Given the description of an element on the screen output the (x, y) to click on. 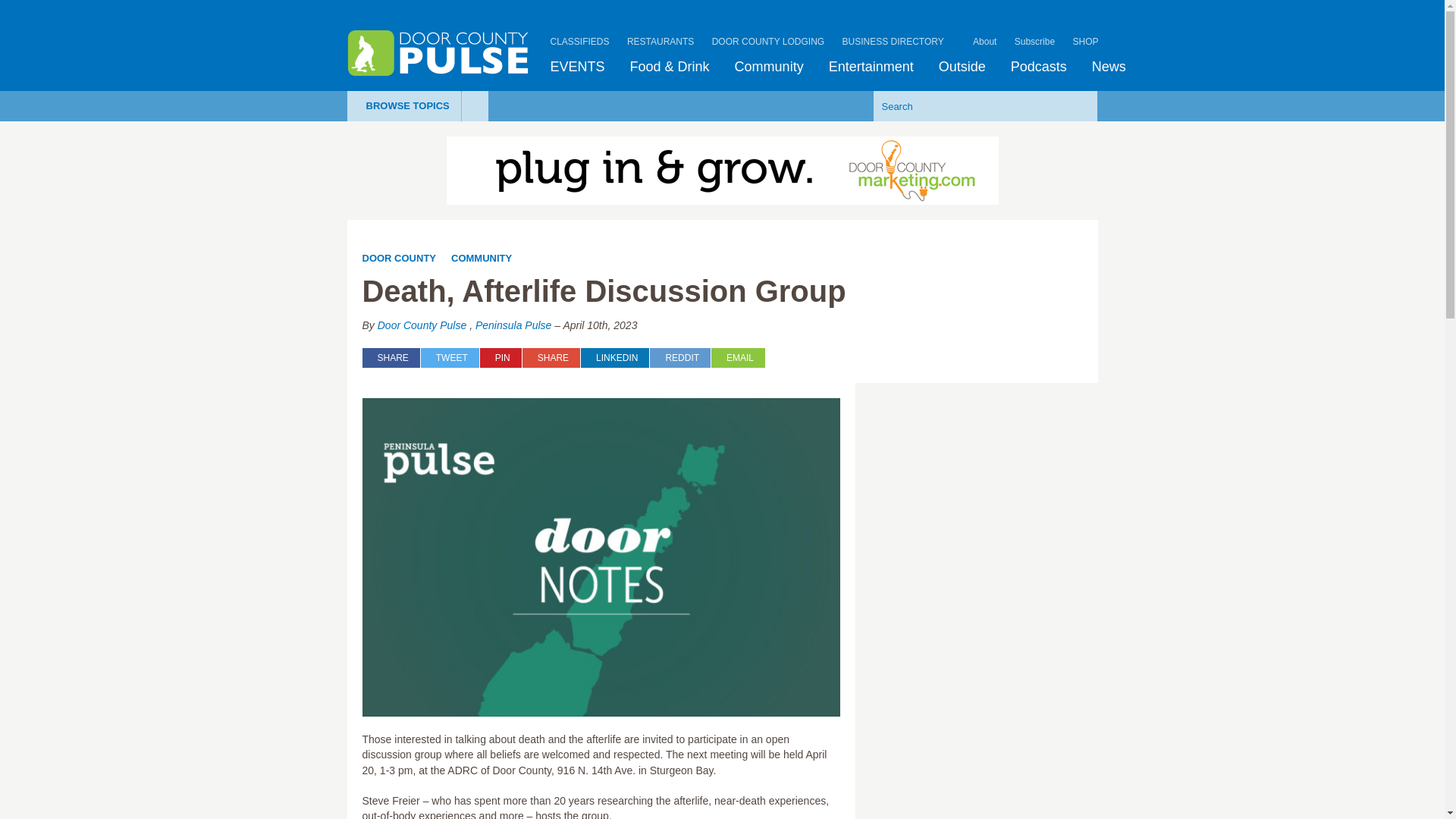
EVENTS (577, 66)
Door County Pulse (437, 53)
Posts by Door County Pulse (422, 325)
Entertainment (871, 66)
Community (768, 66)
Outside (961, 66)
Search for: (962, 105)
